Given the description of an element on the screen output the (x, y) to click on. 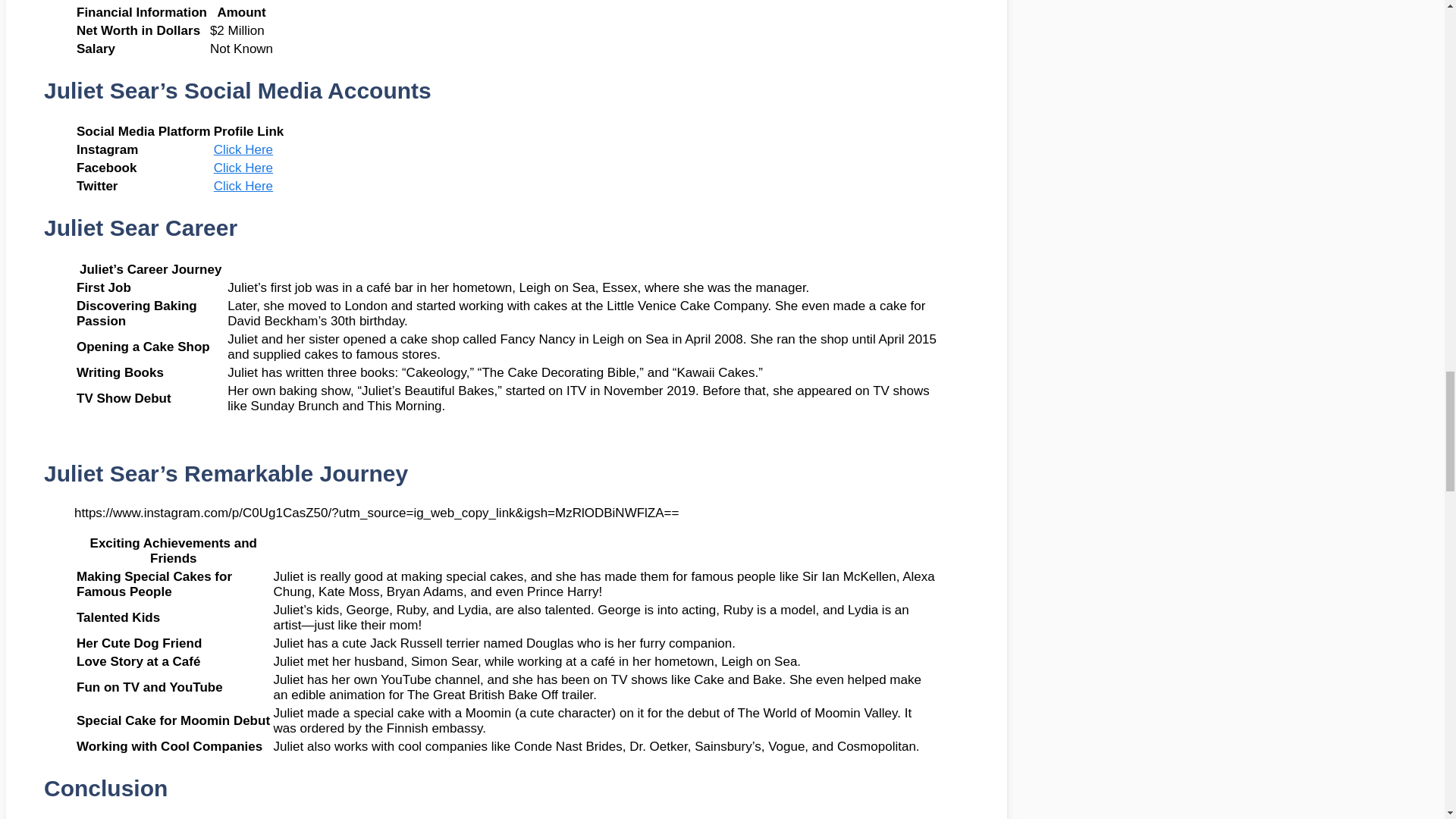
Click Here (243, 186)
Click Here (243, 167)
Click Here (243, 149)
